Given the description of an element on the screen output the (x, y) to click on. 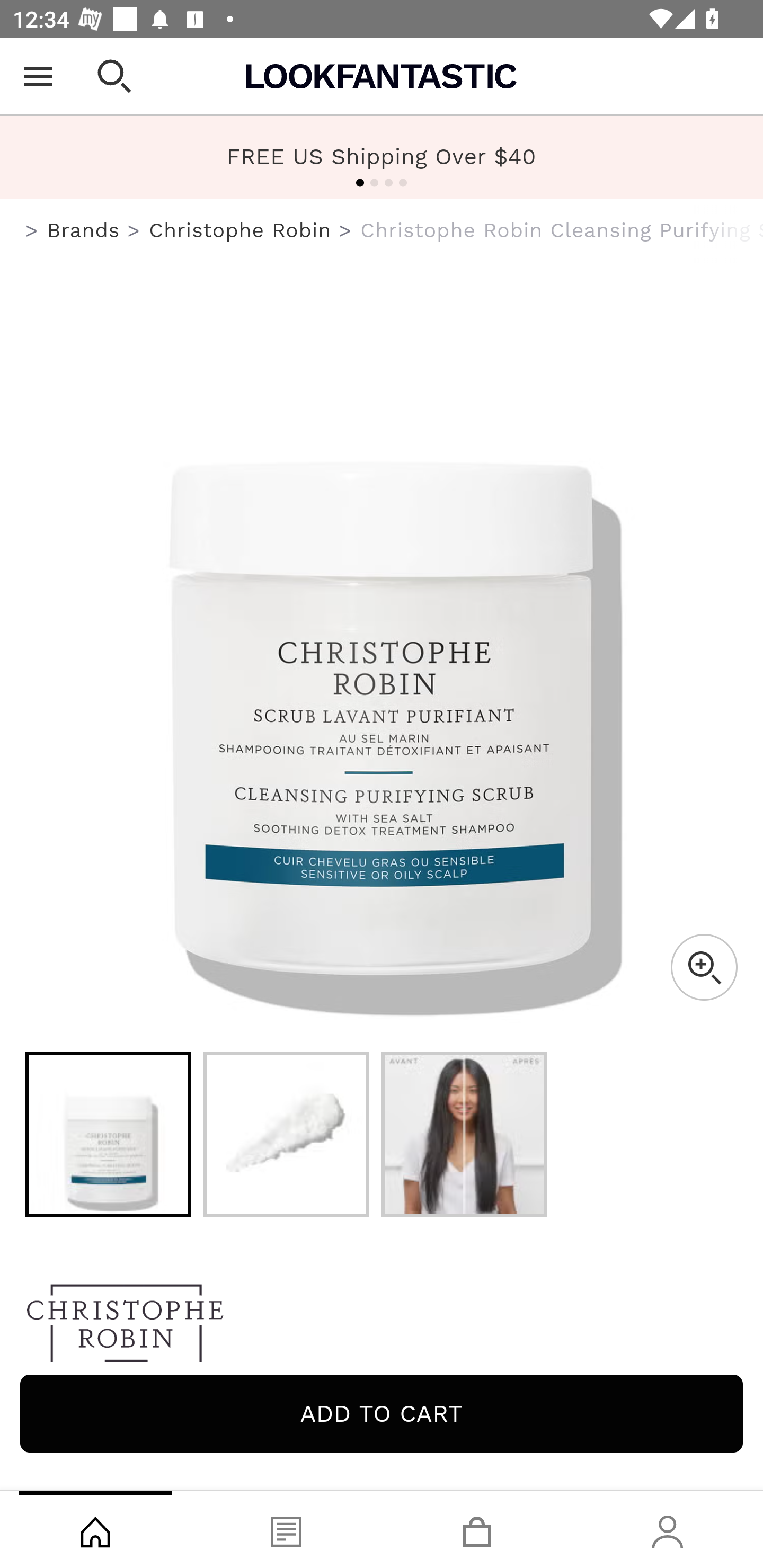
Open Menu (38, 75)
Open search (114, 75)
Lookfantastic USA (381, 75)
FREE US Shipping Over $40 (381, 157)
FREE US Shipping Over $40 (381, 155)
us.lookfantastic (32, 230)
Brands (82, 230)
Christophe Robin (239, 230)
Zoom (703, 966)
Christophe Robin (381, 1327)
Add to cart (381, 1413)
Shop, tab, 1 of 4 (95, 1529)
Blog, tab, 2 of 4 (285, 1529)
Basket, tab, 3 of 4 (476, 1529)
Account, tab, 4 of 4 (667, 1529)
